Given the description of an element on the screen output the (x, y) to click on. 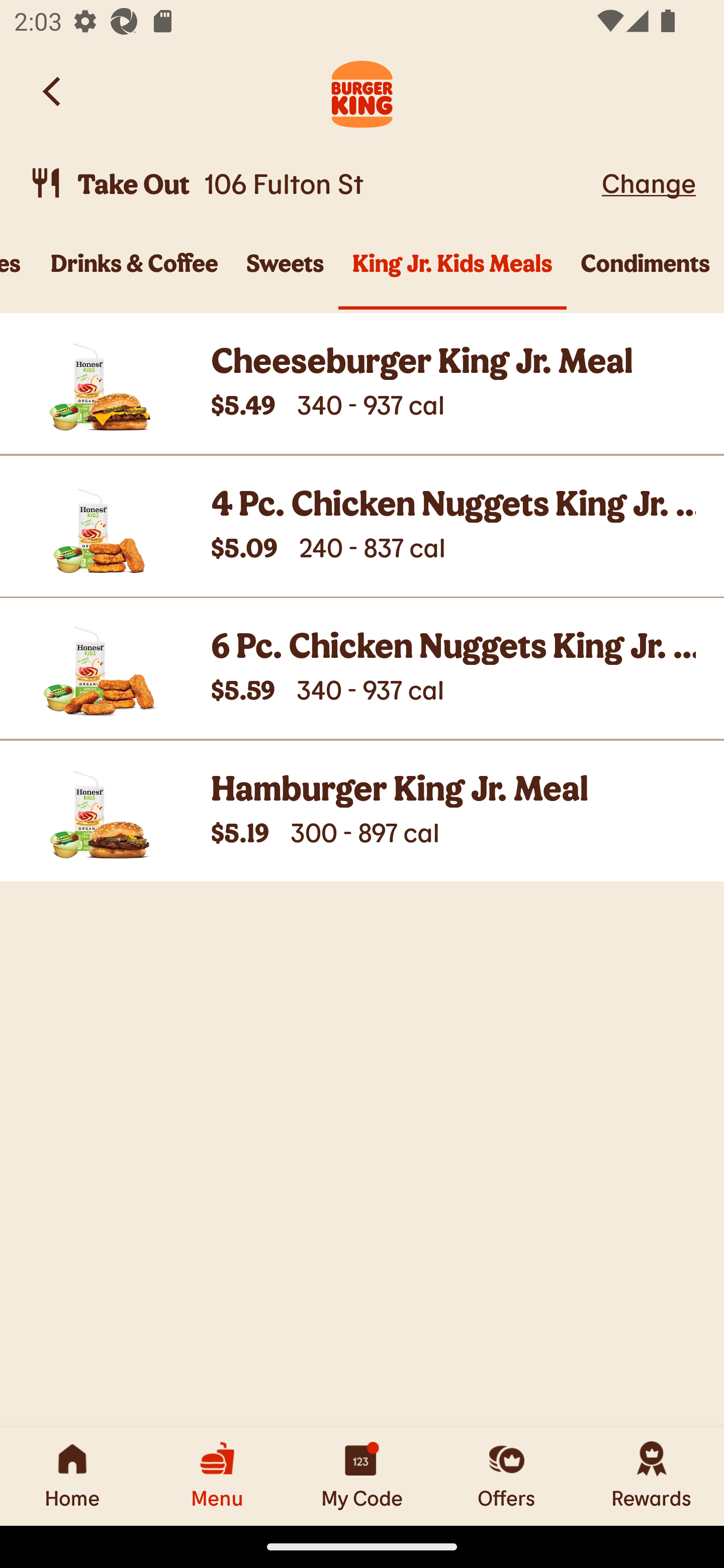
Burger King Logo. Navigate to Home (362, 91)
Back (52, 91)
Take Out, 106 Fulton St  Take Out 106 Fulton St (311, 183)
Change (648, 182)
Drinks & Coffee (134, 273)
Sweets (285, 273)
King Jr. Kids Meals (452, 273)
Condiments (645, 273)
Home (72, 1475)
Menu (216, 1475)
My Code (361, 1475)
Offers (506, 1475)
Rewards (651, 1475)
